Given the description of an element on the screen output the (x, y) to click on. 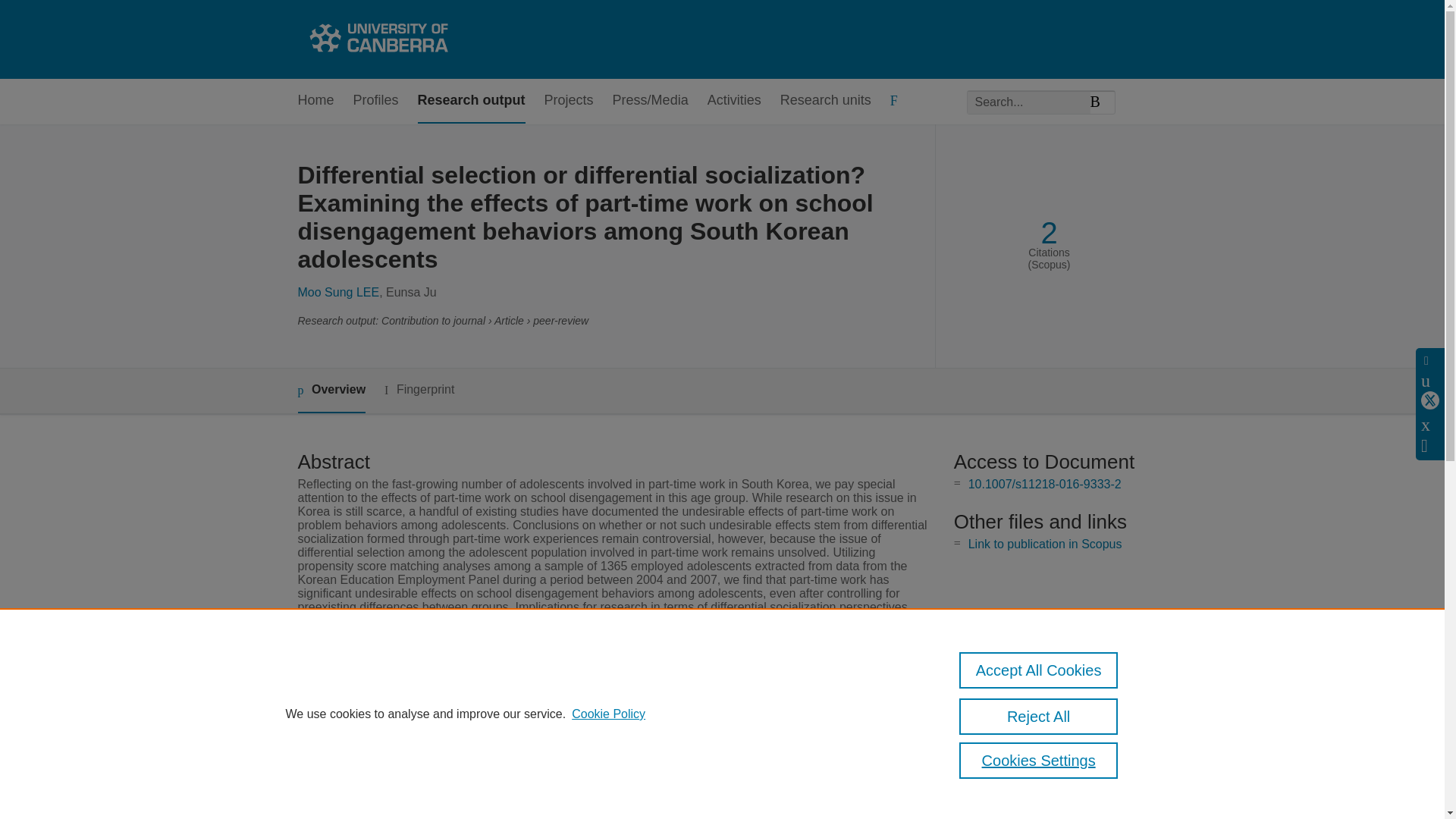
Research output (471, 100)
Moo Sung LEE (337, 291)
Projects (569, 100)
Profiles (375, 100)
Fingerprint (419, 389)
Research units (825, 100)
Link to publication in Scopus (1045, 543)
University of Canberra Research Portal Home (377, 39)
Activities (734, 100)
